Given the description of an element on the screen output the (x, y) to click on. 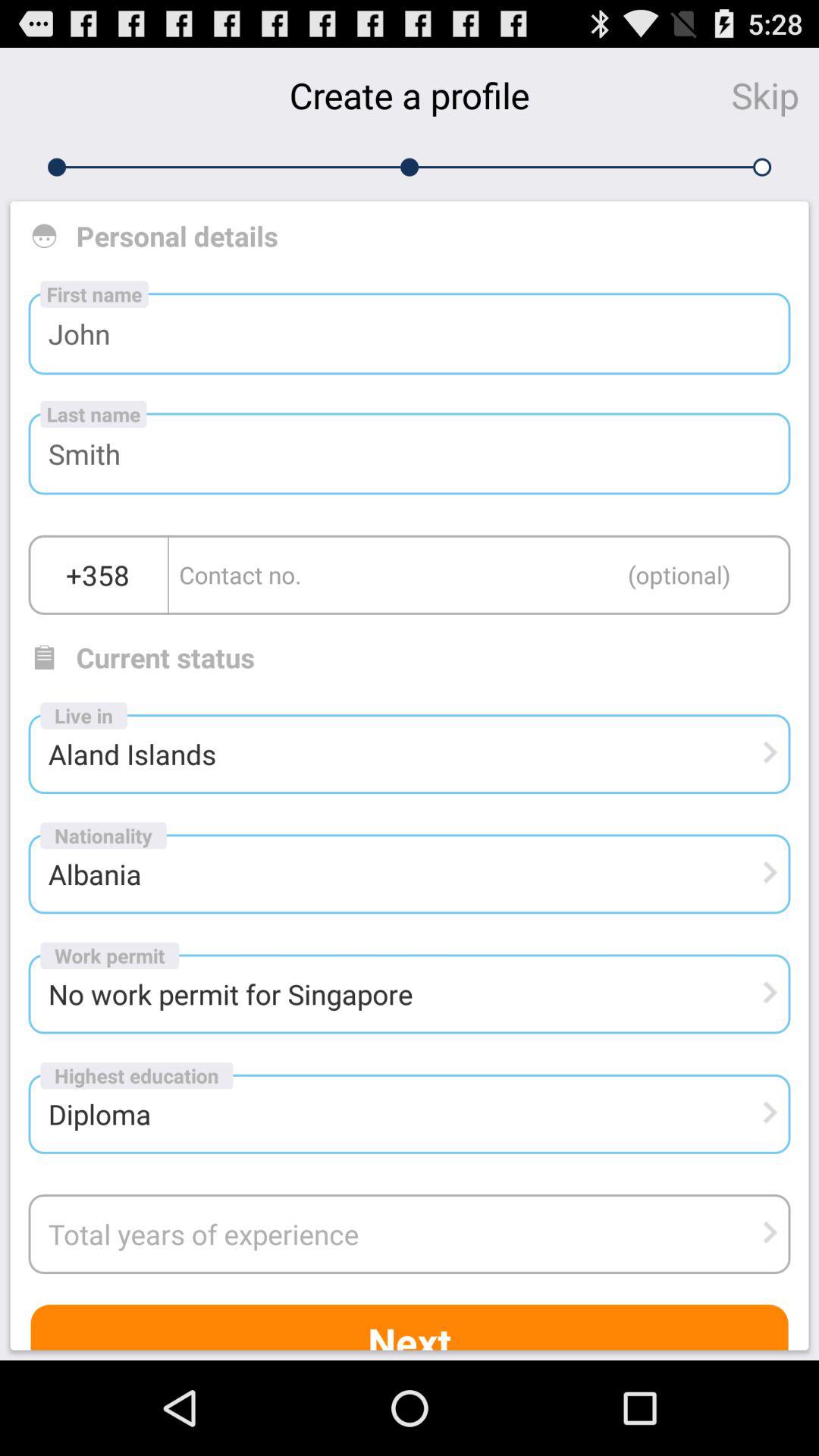
enter contact number (479, 574)
